Given the description of an element on the screen output the (x, y) to click on. 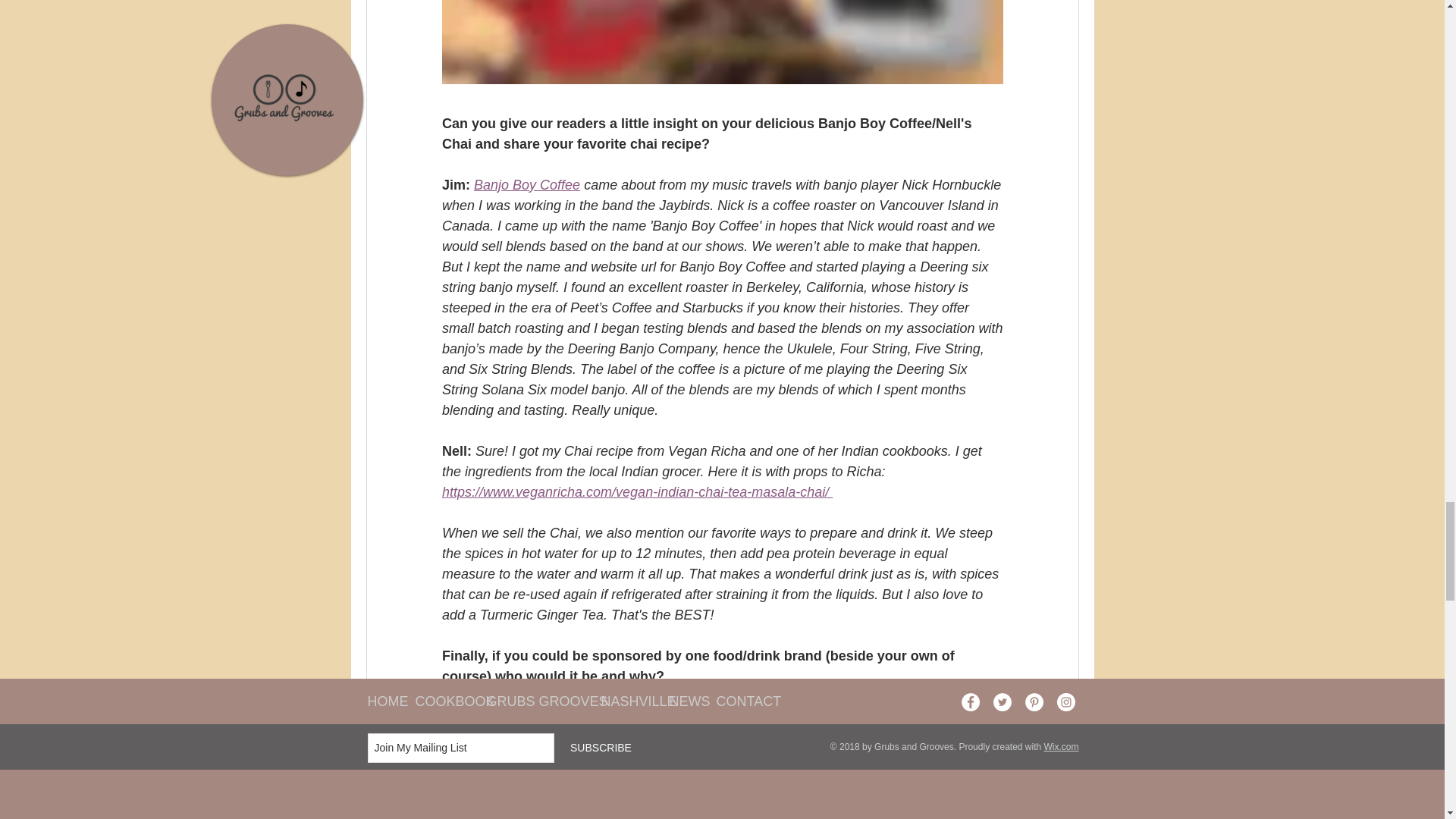
Banjo Boy Coffee (526, 184)
